Given the description of an element on the screen output the (x, y) to click on. 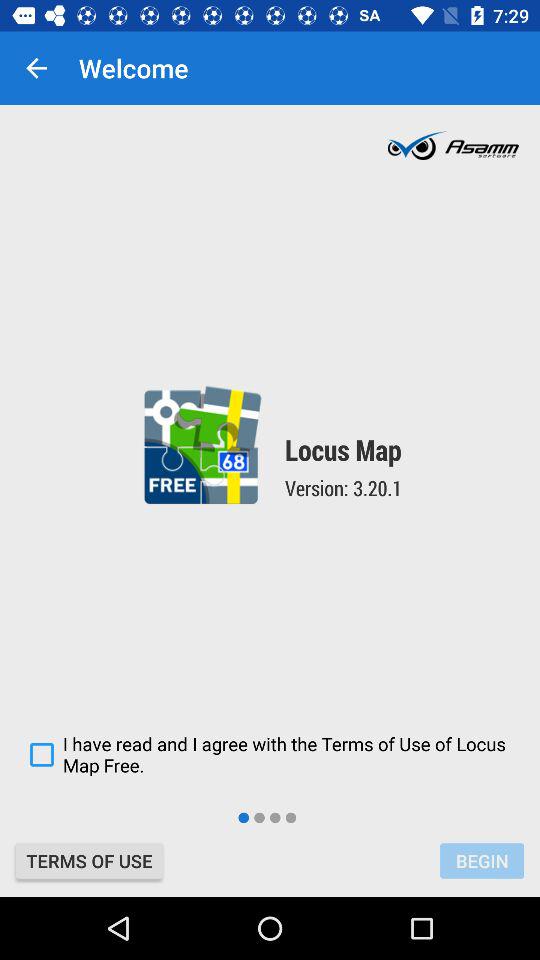
launch icon above the i have read icon (36, 68)
